Given the description of an element on the screen output the (x, y) to click on. 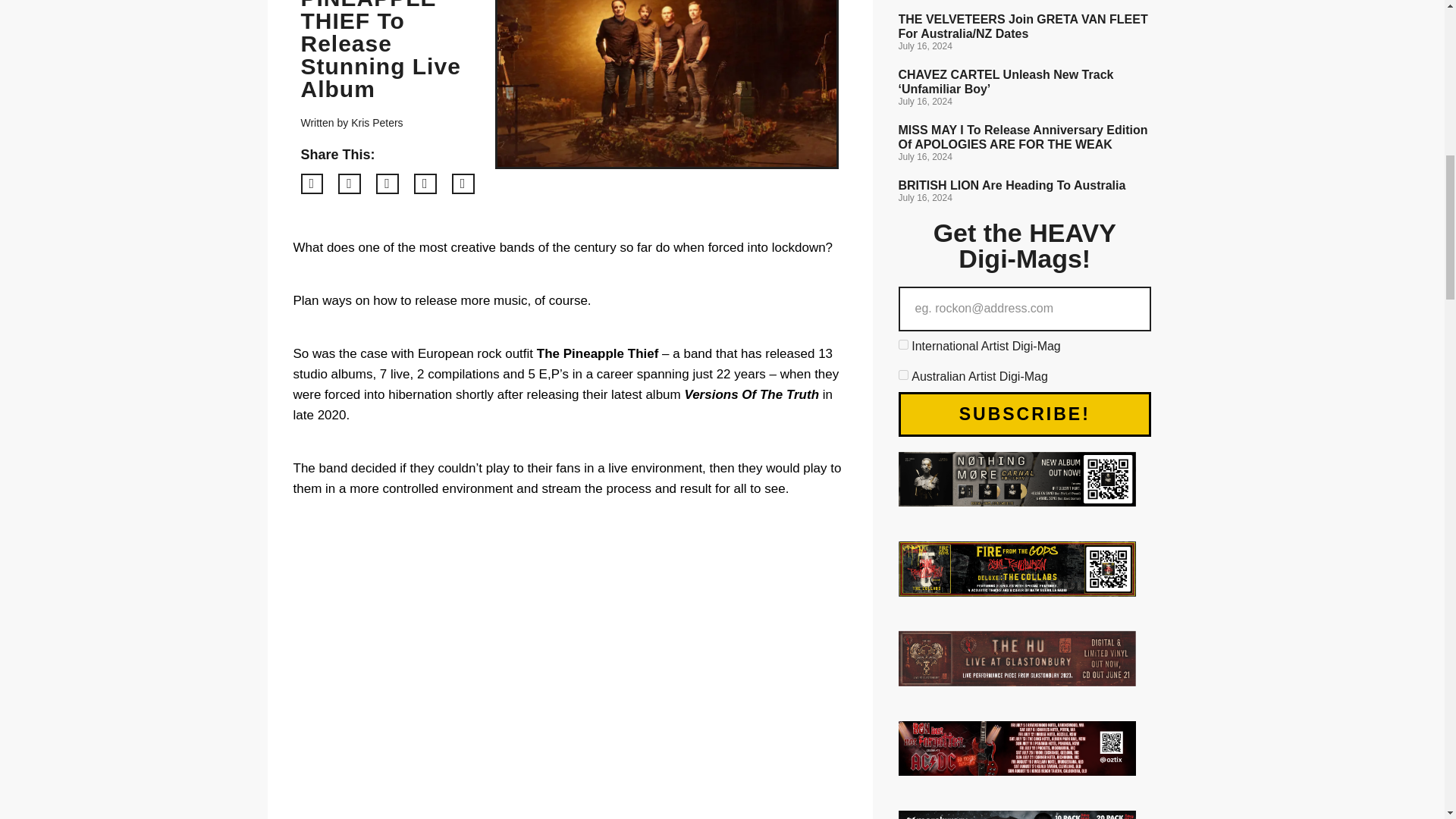
  International Artist Digi-Mag (902, 344)
  Australian Artist Digi-Mag (902, 375)
